Given the description of an element on the screen output the (x, y) to click on. 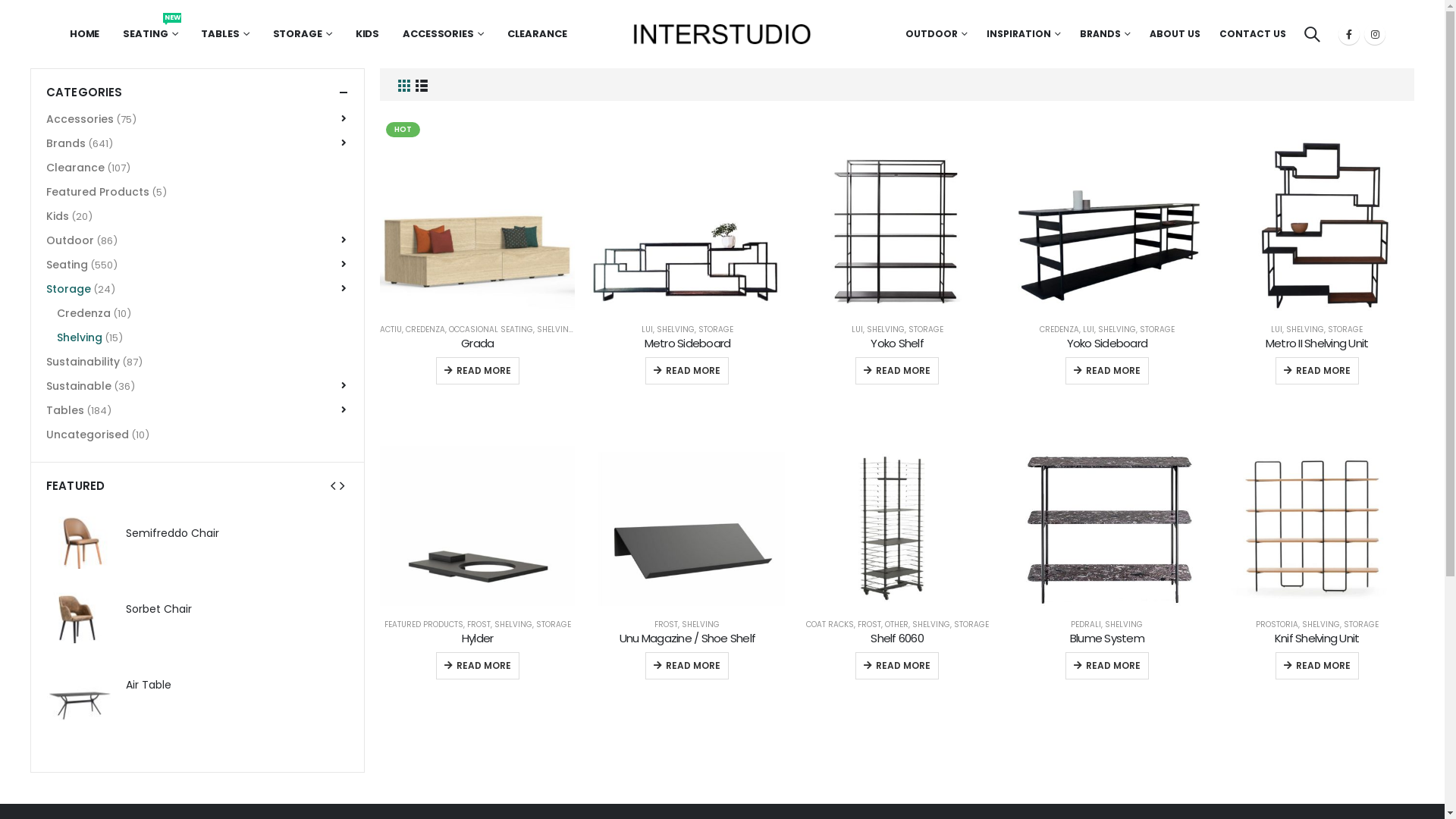
Featured Products Element type: text (97, 191)
Semifreddo Chair Element type: text (237, 533)
READ MORE Element type: text (1106, 370)
ACCESSORIES Element type: text (443, 33)
CONTACT US Element type: text (1250, 33)
Semifreddo Chair Element type: hover (78, 536)
OCCASIONAL SEATING Element type: text (490, 329)
CLEARANCE Element type: text (536, 33)
SHELVING Element type: text (1305, 329)
SHELVING Element type: text (931, 624)
Unu Magazine / Shoe Shelf Element type: text (686, 638)
Tables Element type: text (65, 410)
Air Table Element type: text (237, 685)
Yoko Shelf Element type: text (897, 343)
SHELVING Element type: text (1320, 624)
STORAGE Element type: text (553, 624)
STORAGE Element type: text (1156, 329)
KIDS Element type: text (367, 33)
SHELVING Element type: text (675, 329)
STORAGE Element type: text (302, 33)
List View Element type: hover (421, 84)
Air Table Element type: hover (78, 688)
SHELVING Element type: text (555, 329)
FROST Element type: text (478, 624)
LUI Element type: text (856, 329)
SHELVING Element type: text (1116, 329)
HOT Element type: text (476, 213)
STORAGE Element type: text (970, 624)
Clearance Element type: text (75, 167)
SHELVING Element type: text (1123, 624)
READ MORE Element type: text (477, 665)
Knif Shelving Unit Element type: text (1316, 638)
Sorbet Chair Element type: hover (78, 612)
STORAGE Element type: text (925, 329)
STORAGE Element type: text (1344, 329)
Kids Element type: text (57, 215)
Metro II Shelving Unit Element type: text (1316, 343)
READ MORE Element type: text (1316, 665)
SEATING
NEW Element type: text (149, 33)
OTHER Element type: text (896, 624)
Instagram Element type: hover (1374, 33)
Shelving Element type: text (79, 337)
FROST Element type: text (665, 624)
INSPIRATION Element type: text (1023, 33)
FEATURED PRODUCTS Element type: text (423, 624)
Grid View Element type: hover (403, 84)
TABLES Element type: text (224, 33)
READ MORE Element type: text (686, 370)
SHELVING Element type: text (885, 329)
LUI Element type: text (1276, 329)
STORAGE Element type: text (715, 329)
READ MORE Element type: text (477, 370)
BRANDS Element type: text (1105, 33)
Interstudio - Next Generation Designer Furniture Element type: hover (722, 33)
READ MORE Element type: text (1106, 665)
Metro Sideboard Element type: text (686, 343)
Sustainability Element type: text (82, 361)
PEDRALI Element type: text (1085, 624)
COAT RACKS Element type: text (829, 624)
Facebook Element type: hover (1348, 33)
SHELVING Element type: text (513, 624)
Shelf 6060 Element type: text (897, 638)
OUTDOOR Element type: text (936, 33)
Blume System Element type: text (1107, 638)
Credenza Element type: text (83, 313)
LUI Element type: text (646, 329)
READ MORE Element type: text (1316, 370)
Sorbet Chair Element type: text (237, 609)
ACTIU Element type: text (390, 329)
ABOUT US Element type: text (1174, 33)
READ MORE Element type: text (686, 665)
Grada Element type: text (476, 343)
Brands Element type: text (65, 143)
Hylder Element type: text (476, 638)
CREDENZA Element type: text (1059, 329)
PROSTORIA Element type: text (1276, 624)
Uncategorised Element type: text (87, 434)
Yoko Sideboard Element type: text (1107, 343)
Outdoor Element type: text (70, 240)
STORAGE Element type: text (1360, 624)
Accessories Element type: text (79, 118)
Storage Element type: text (68, 288)
LUI Element type: text (1088, 329)
HOME Element type: text (84, 33)
FROST Element type: text (869, 624)
CREDENZA Element type: text (425, 329)
READ MORE Element type: text (896, 370)
Seating Element type: text (66, 264)
Sustainable Element type: text (78, 385)
READ MORE Element type: text (896, 665)
SHELVING Element type: text (700, 624)
